Given the description of an element on the screen output the (x, y) to click on. 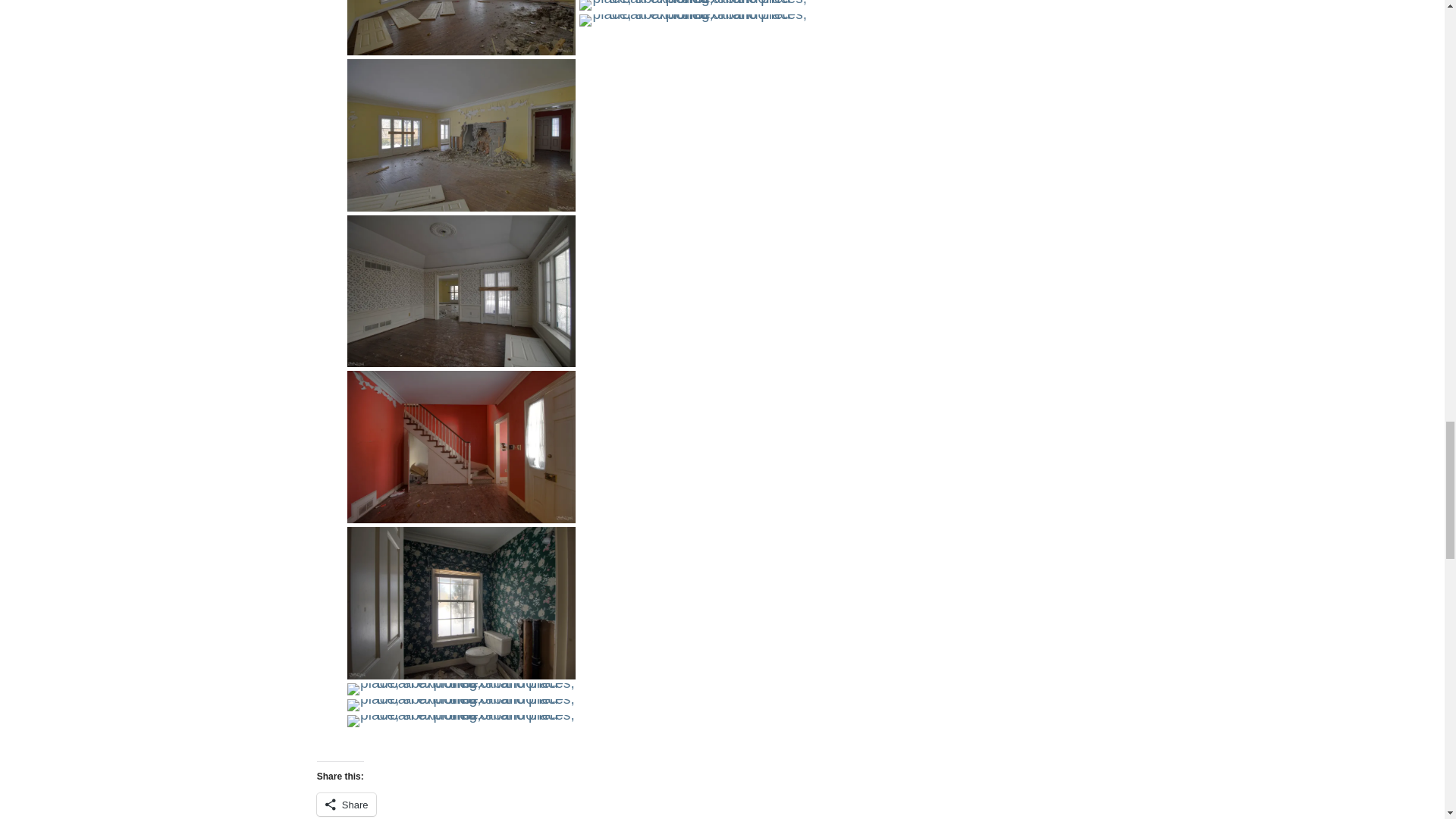
Abandoned Country Manor (461, 447)
Abandoned Country Manor (461, 603)
Abandoned Country Manor (461, 27)
Abandoned Country Manor (461, 291)
Abandoned Country Manor (461, 134)
